Given the description of an element on the screen output the (x, y) to click on. 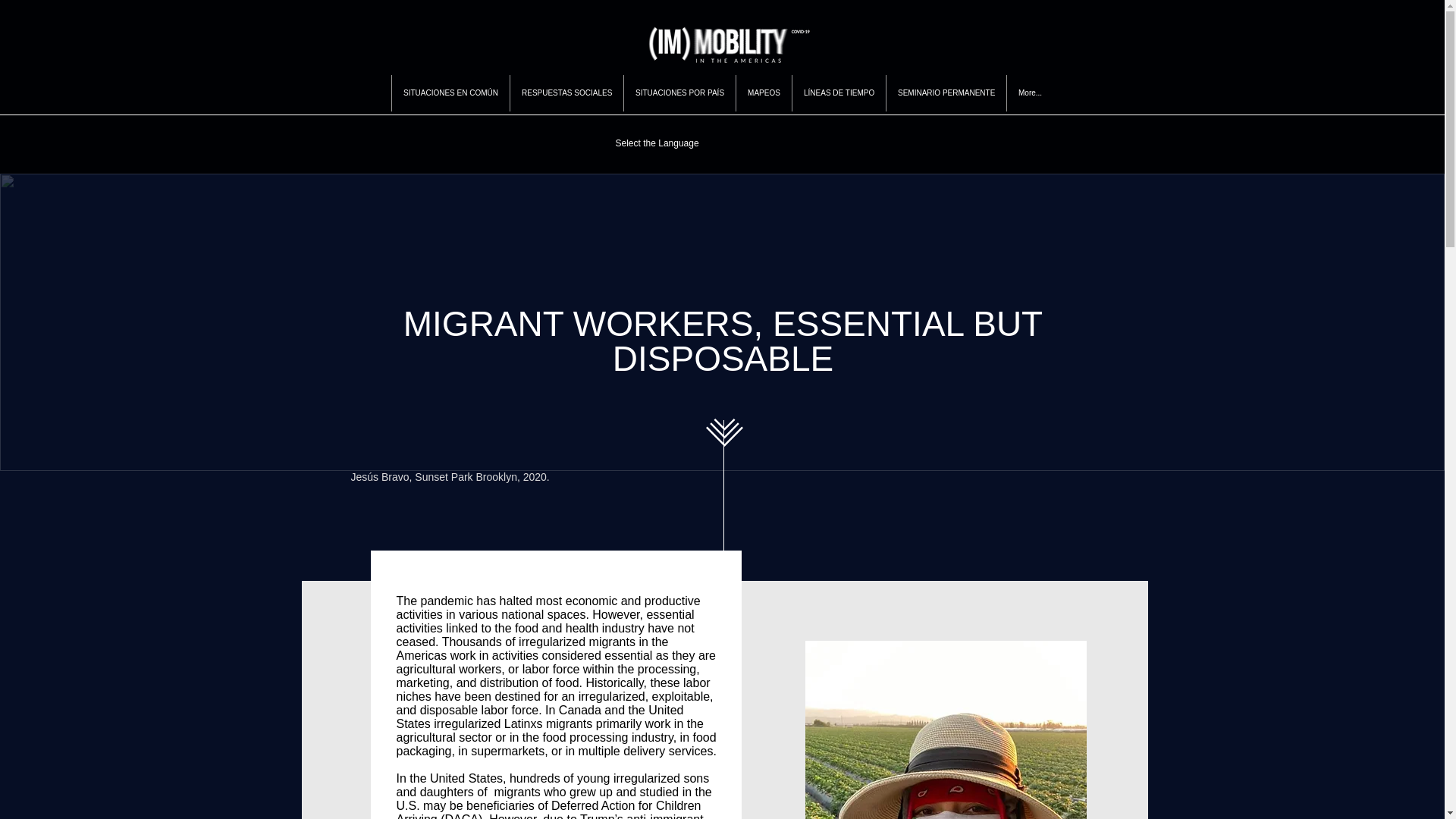
RESPUESTAS SOCIALES (566, 93)
SEMINARIO PERMANENTE (945, 93)
